Given the description of an element on the screen output the (x, y) to click on. 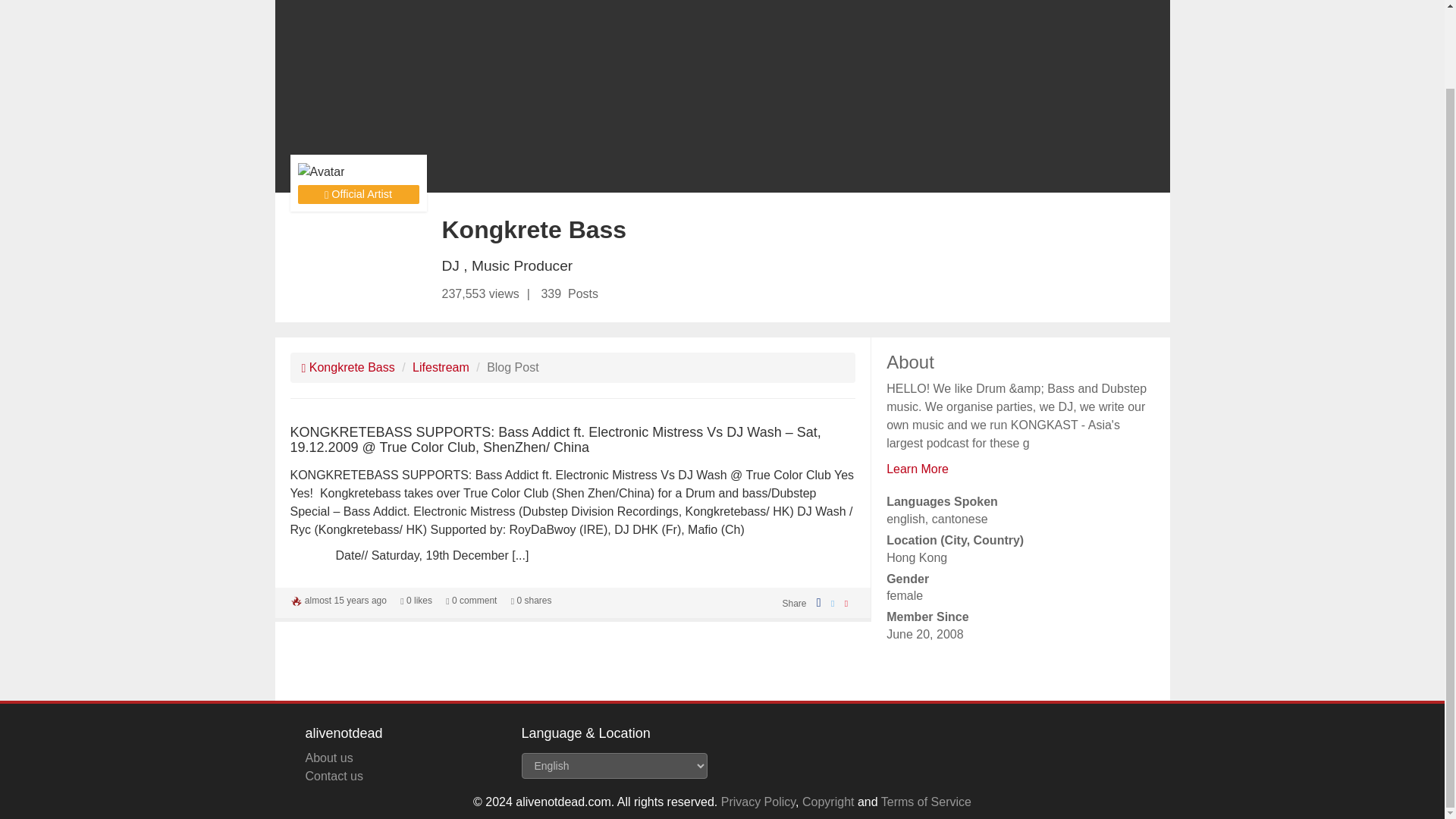
Lifestream (440, 367)
Kongkrete Bass (347, 367)
 0 comment (470, 600)
Learn More (917, 468)
About us (328, 757)
almost 15 years ago (345, 600)
